Given the description of an element on the screen output the (x, y) to click on. 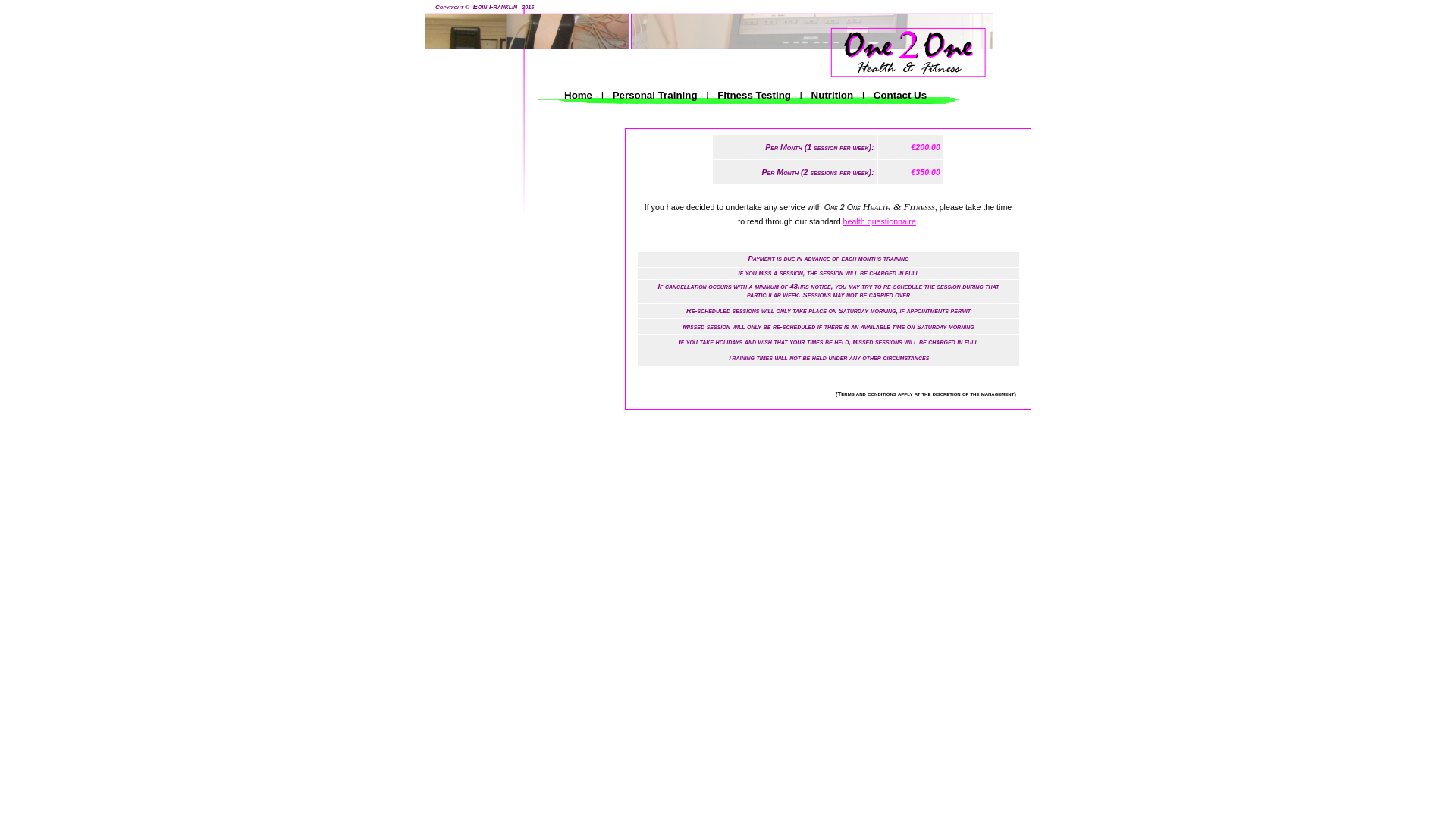
health questionnaire Element type: text (879, 220)
Contact Us Element type: text (898, 94)
Nutrition Element type: text (832, 94)
Personal Training Element type: text (654, 94)
Home Element type: text (579, 94)
Fitness Testing Element type: text (753, 94)
